Given the description of an element on the screen output the (x, y) to click on. 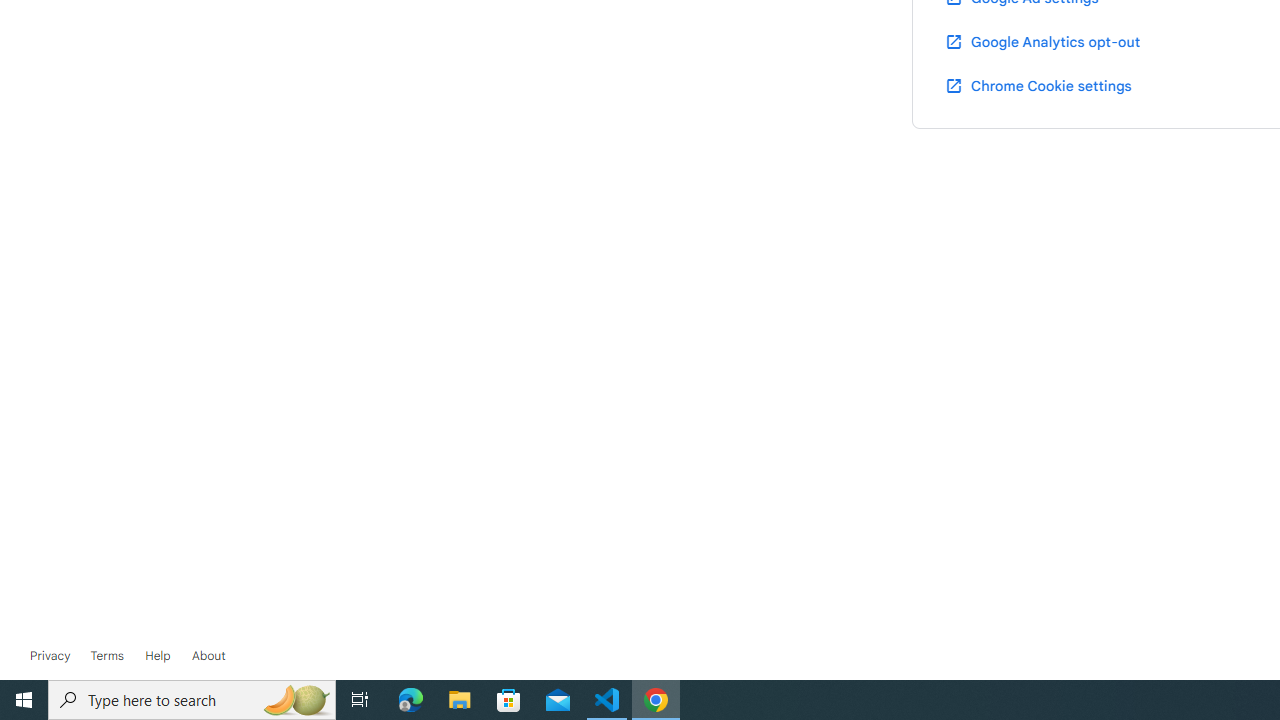
Privacy (50, 655)
Chrome Cookie settings (1037, 85)
Google Analytics opt-out (1041, 41)
Help (158, 655)
Learn more about Google Account (208, 655)
